Given the description of an element on the screen output the (x, y) to click on. 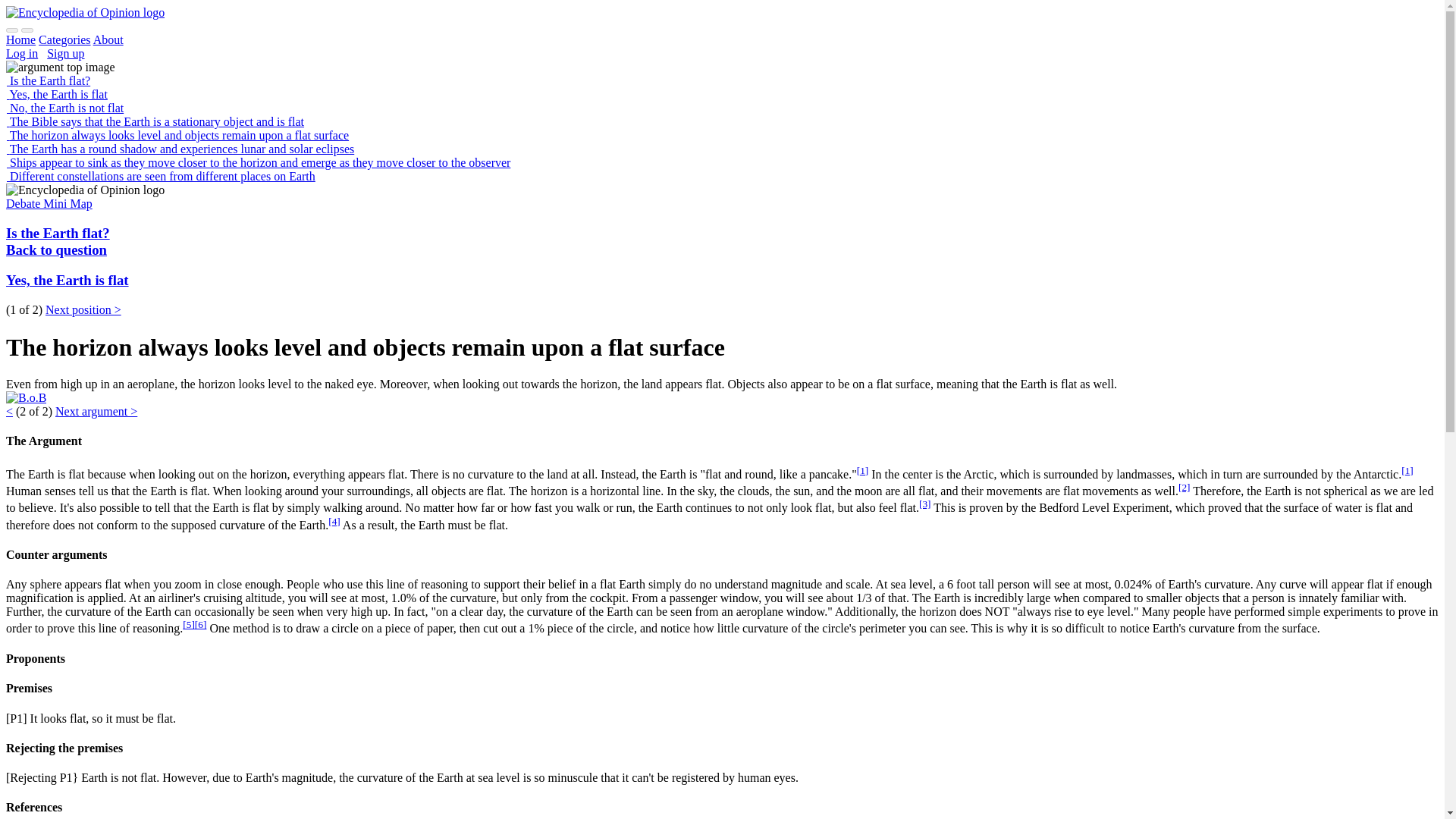
Is the Earth flat? (57, 232)
About (108, 39)
Sign up (65, 52)
Go to homepage (84, 11)
Yes, the Earth is flat (67, 279)
No, the Earth is not flat (64, 107)
Log In (21, 52)
Back to question (55, 249)
Is the Earth flat? (47, 80)
Categories (64, 39)
Sign up (65, 52)
